Given the description of an element on the screen output the (x, y) to click on. 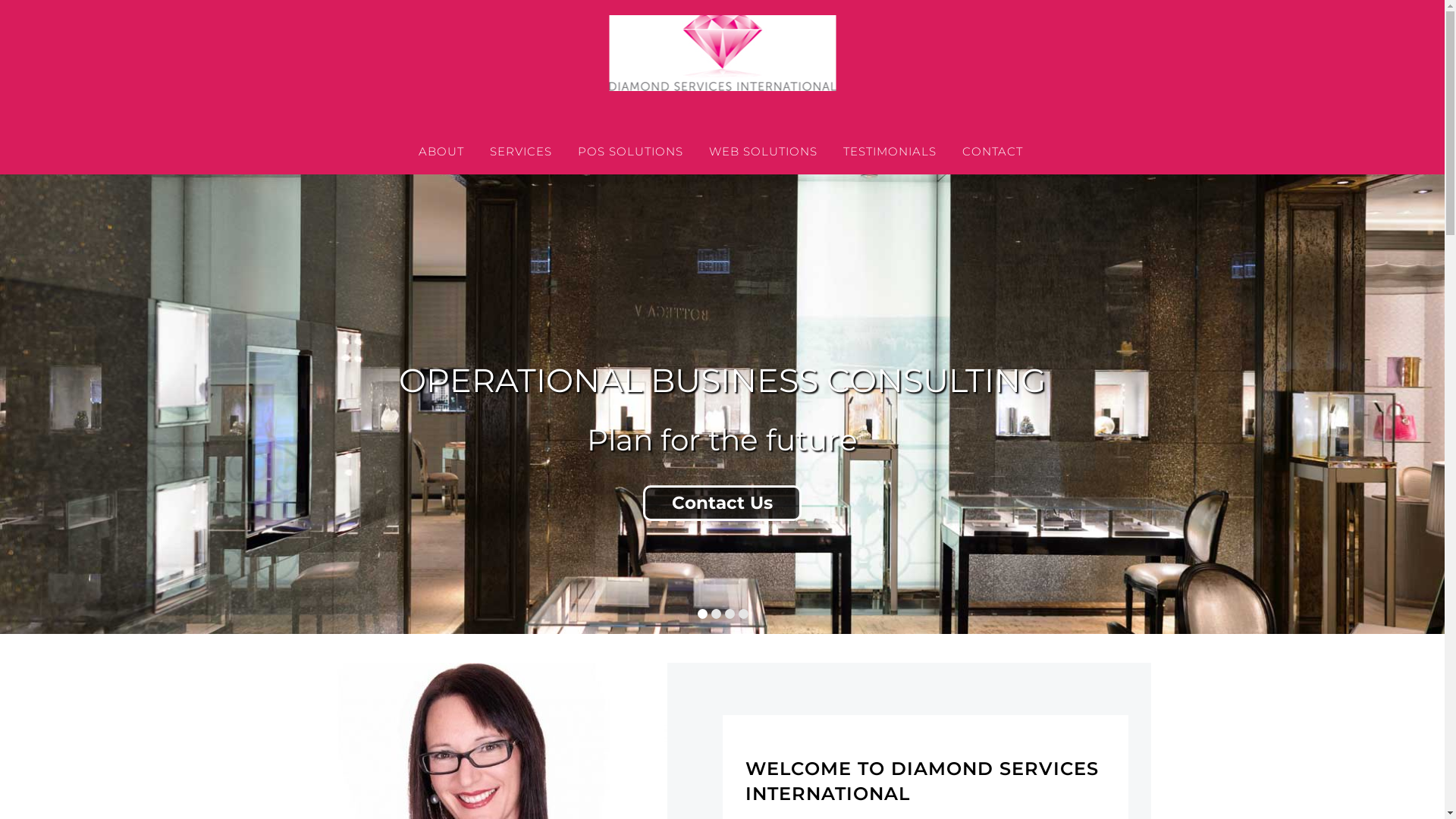
TESTIMONIALS Element type: text (888, 151)
POS SOLUTIONS Element type: text (629, 151)
WEB SOLUTIONS Element type: text (763, 151)
SERVICES Element type: text (520, 151)
CONTACT Element type: text (992, 151)
ABOUT Element type: text (440, 151)
